Given the description of an element on the screen output the (x, y) to click on. 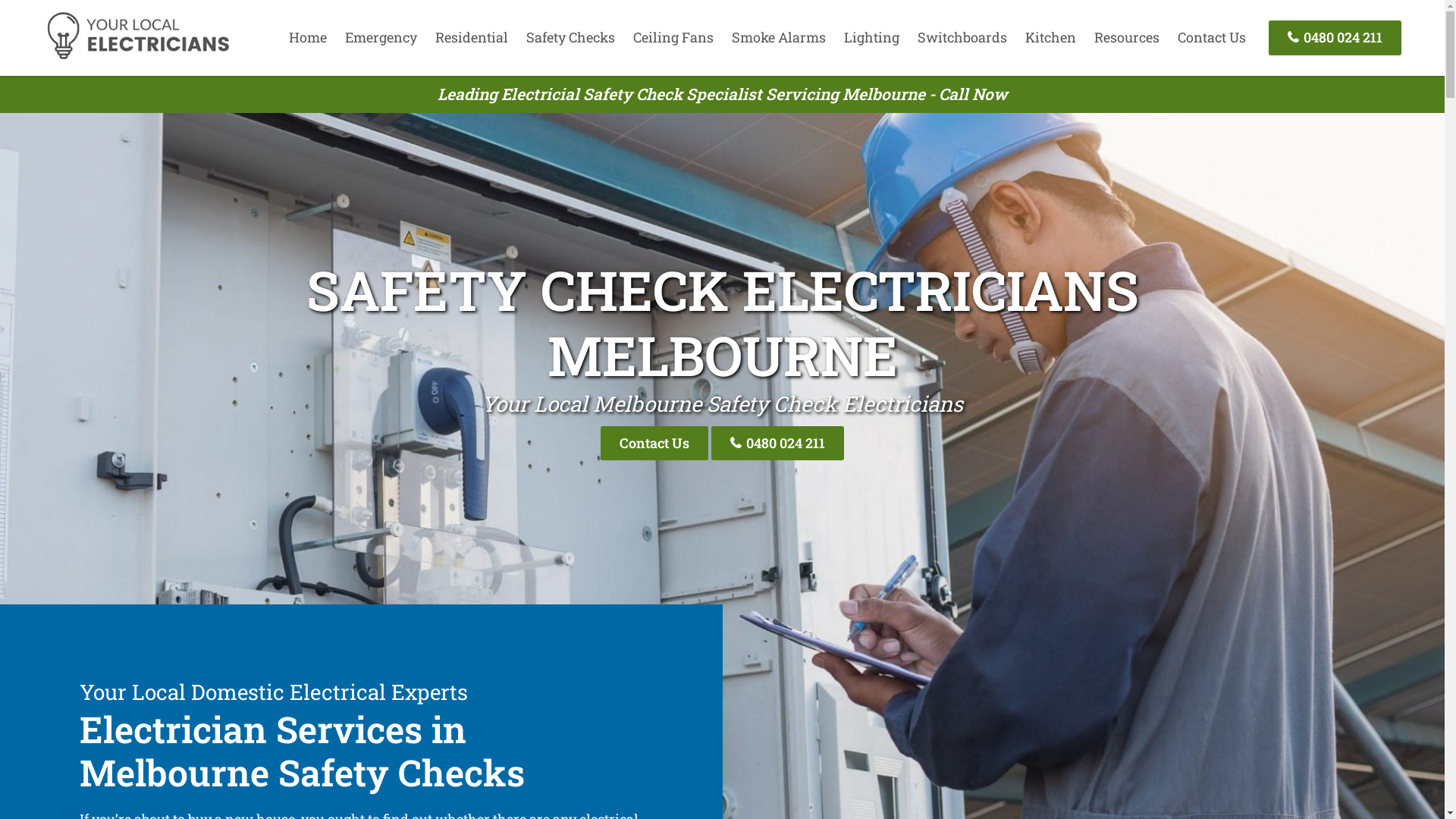
Contact Us Element type: text (654, 443)
Emergency Element type: text (380, 37)
Home Element type: text (307, 37)
Kitchen Element type: text (1050, 37)
Resources Element type: text (1126, 37)
Electricians Element type: hover (137, 56)
Smoke Alarms Element type: text (778, 37)
Contact Us Element type: text (1211, 37)
0480 024 211 Element type: text (777, 443)
0480 024 211 Element type: text (1334, 37)
Ceiling Fans Element type: text (673, 37)
Lighting Element type: text (871, 37)
Residential Element type: text (471, 37)
Safety Checks Element type: text (570, 37)
Switchboards Element type: text (962, 37)
